Given the description of an element on the screen output the (x, y) to click on. 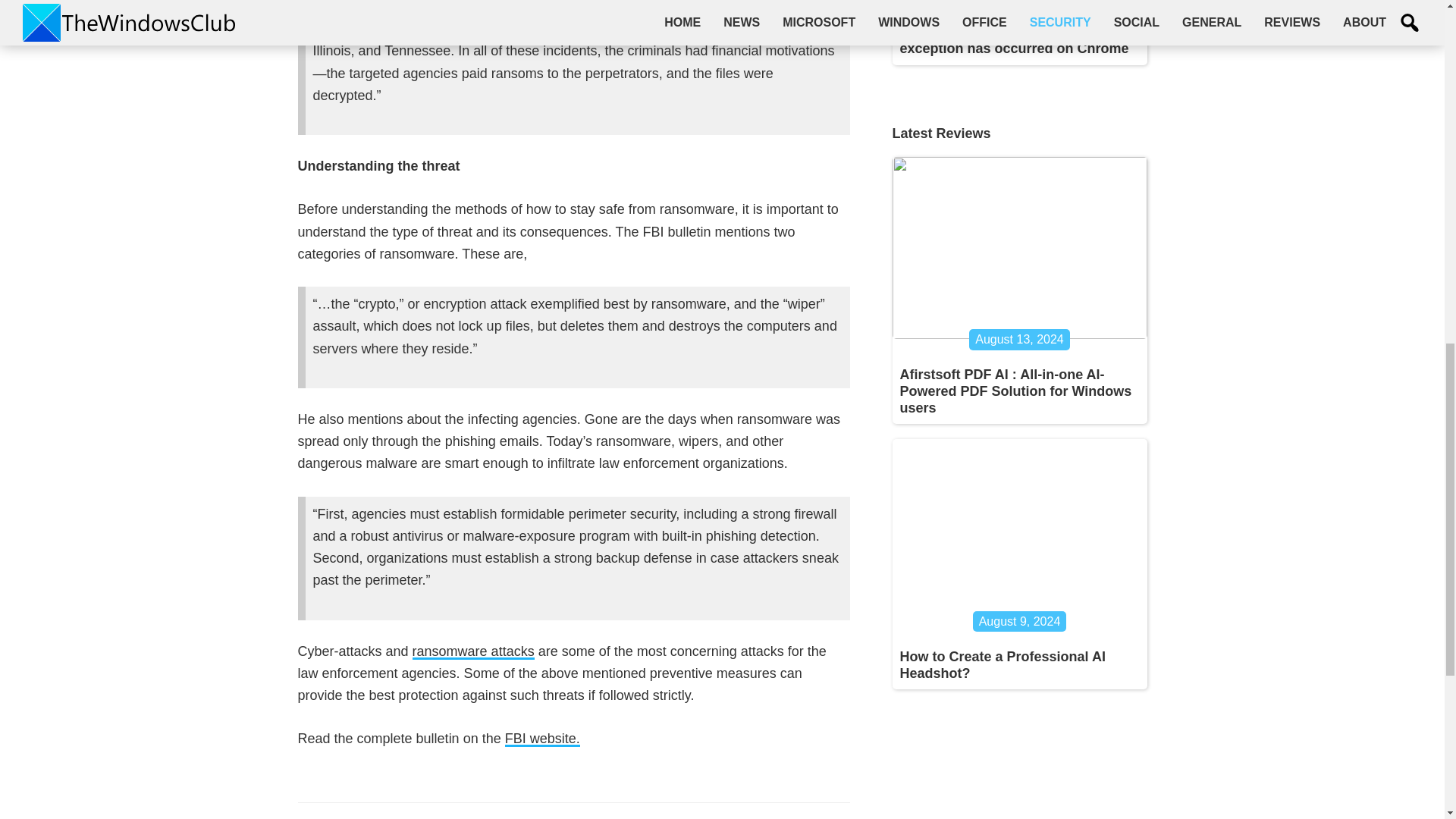
FBI website. (542, 738)
How to Create a Professional AI Headshot? (1002, 664)
ransomware attacks (473, 651)
